Given the description of an element on the screen output the (x, y) to click on. 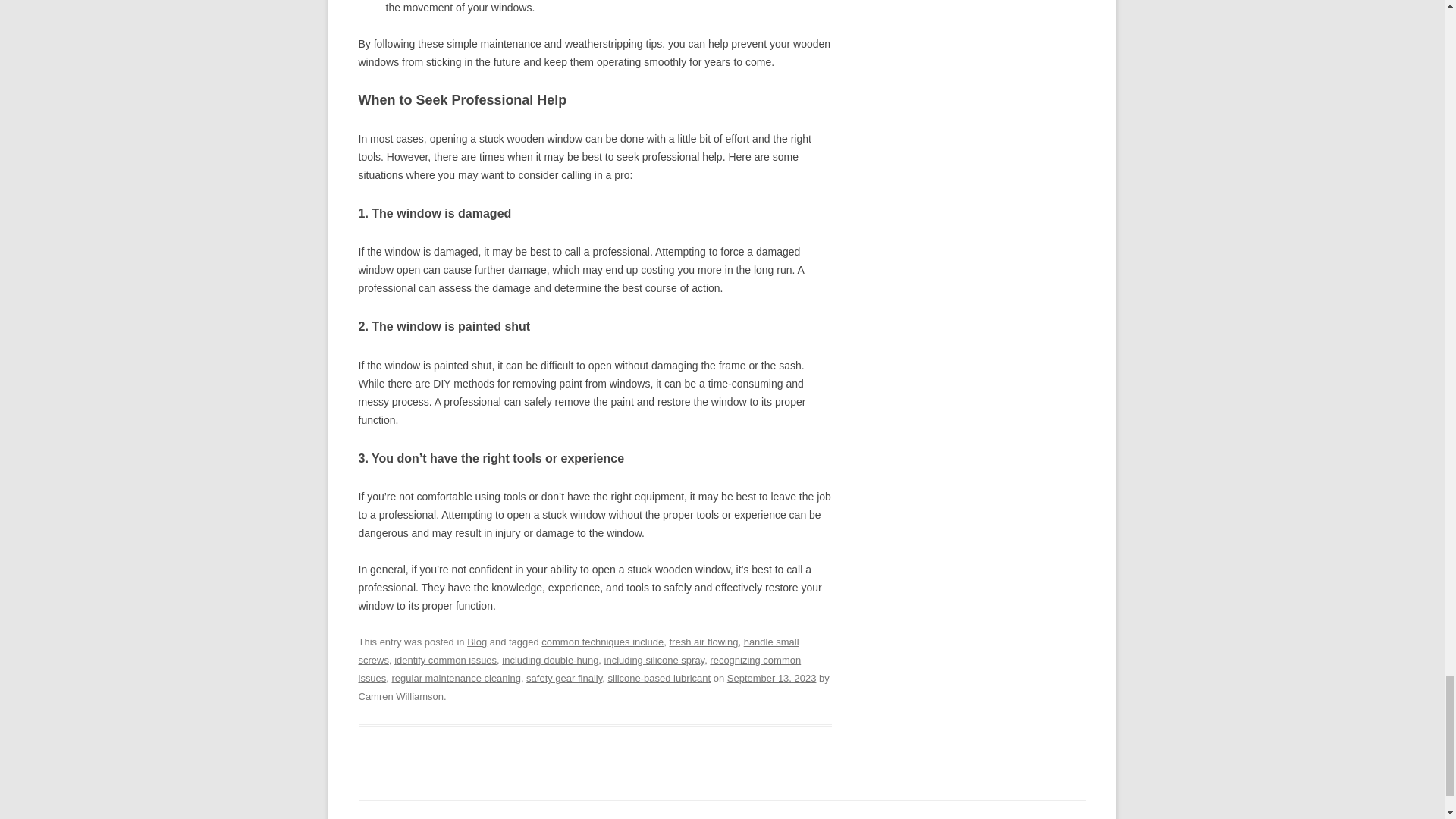
7:42 pm (771, 677)
recognizing common issues (579, 668)
safety gear finally (563, 677)
fresh air flowing (703, 641)
handle small screws (577, 650)
including silicone spray (654, 659)
silicone-based lubricant (658, 677)
September 13, 2023 (771, 677)
identify common issues (445, 659)
Camren Williamson (401, 696)
regular maintenance cleaning (456, 677)
View all posts by Camren Williamson (401, 696)
Blog (476, 641)
common techniques include (602, 641)
including double-hung (550, 659)
